Given the description of an element on the screen output the (x, y) to click on. 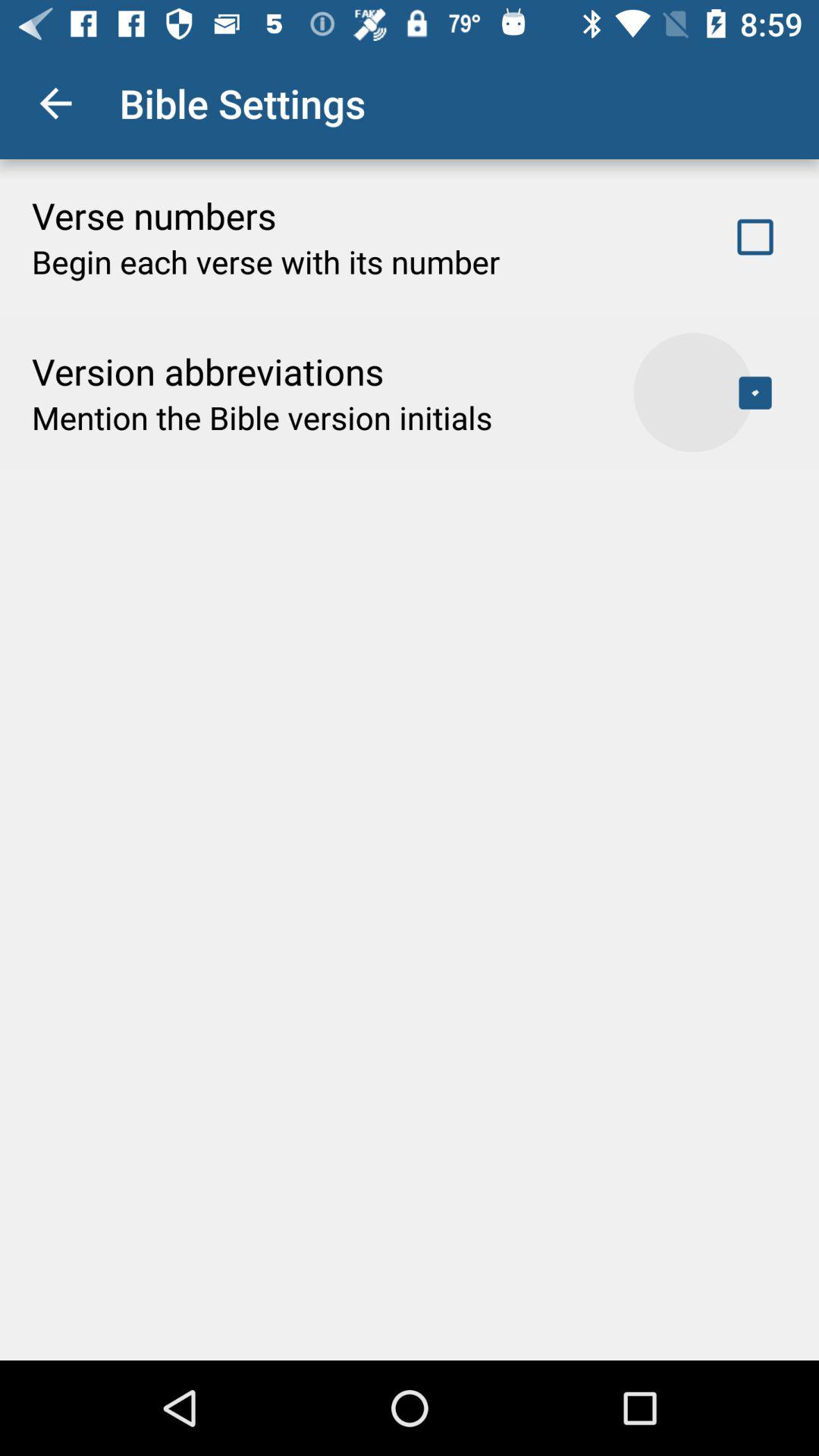
choose icon to the left of bible settings (55, 103)
